Given the description of an element on the screen output the (x, y) to click on. 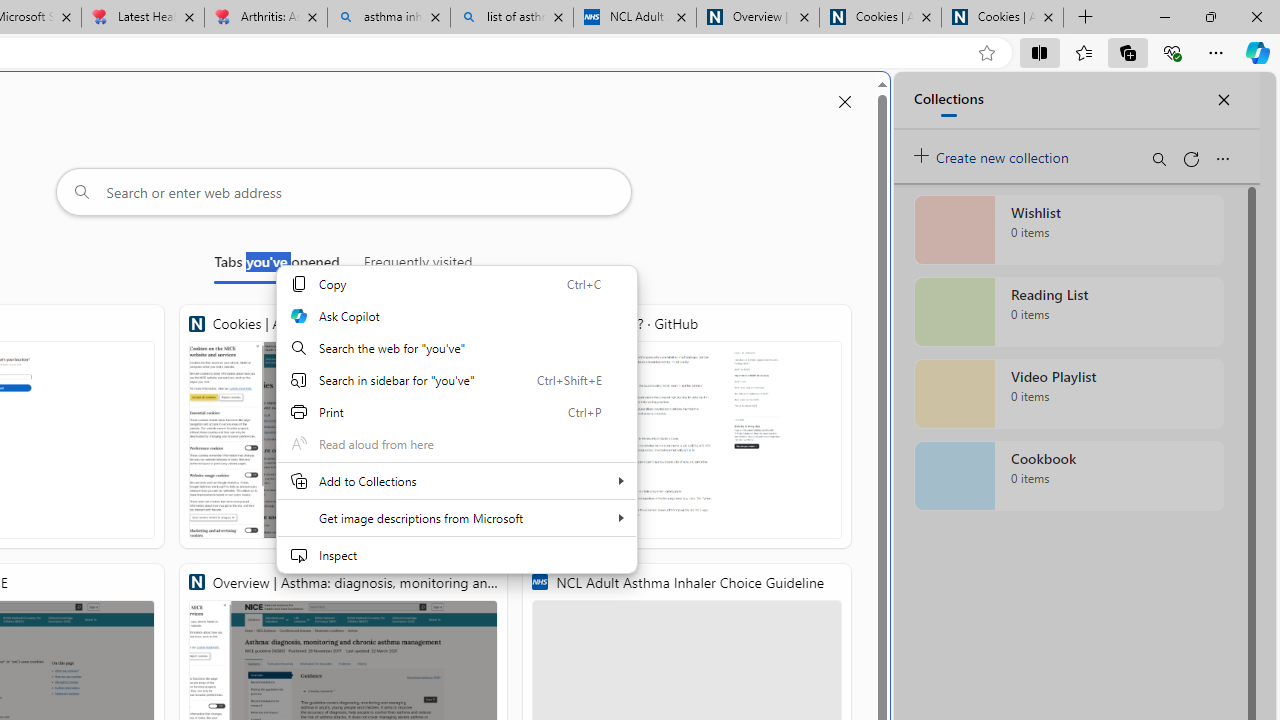
Get image descriptions from Microsoft (456, 517)
Cookies | About | NICE (343, 426)
Inspect (456, 554)
Search or enter web address (343, 191)
Web context (456, 431)
Print (456, 411)
Frequently visited (418, 265)
Web context (456, 419)
